Given the description of an element on the screen output the (x, y) to click on. 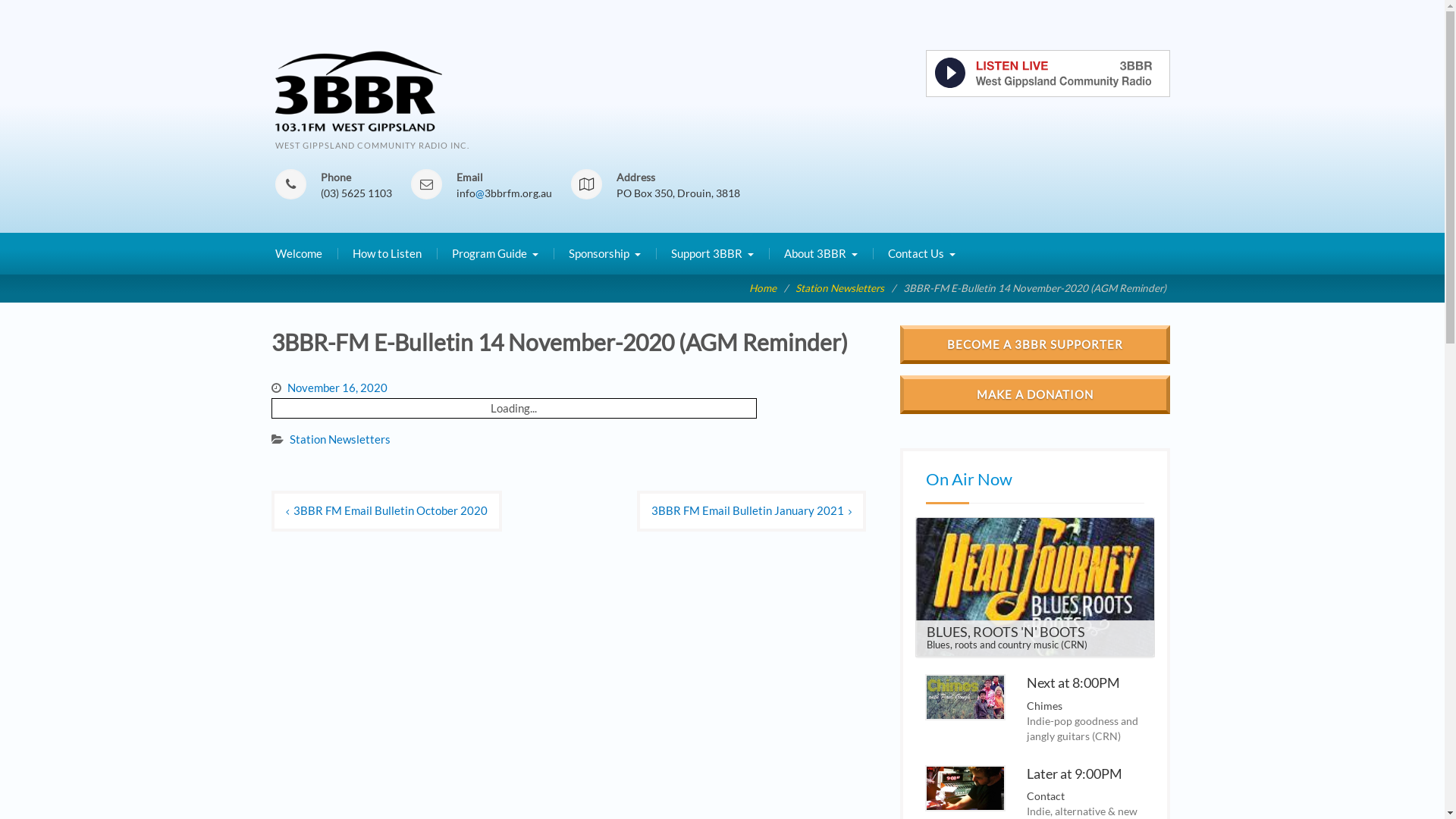
3BBR FM Email Bulletin October 2020 Element type: text (386, 510)
Program Guide Element type: text (494, 253)
Stream 3BBR in a pop-up window Element type: hover (1047, 92)
Station Newsletters Element type: text (838, 288)
Home Element type: text (762, 288)
Welcome Element type: text (297, 253)
Contact Us Element type: text (920, 253)
How to Listen Element type: text (385, 253)
(03) 5625 1103 Element type: text (355, 192)
About 3BBR Element type: text (820, 253)
Support 3BBR Element type: text (711, 253)
Station Newsletters Element type: text (339, 438)
MAKE A DONATION Element type: text (1035, 394)
November 16, 2020 Element type: text (336, 387)
3BBR FM Email Bulletin January 2021 Element type: text (751, 510)
Sponsorship Element type: text (604, 253)
BECOME A 3BBR SUPPORTER Element type: text (1035, 344)
info@3bbrfm.org.au Element type: text (504, 192)
